Given the description of an element on the screen output the (x, y) to click on. 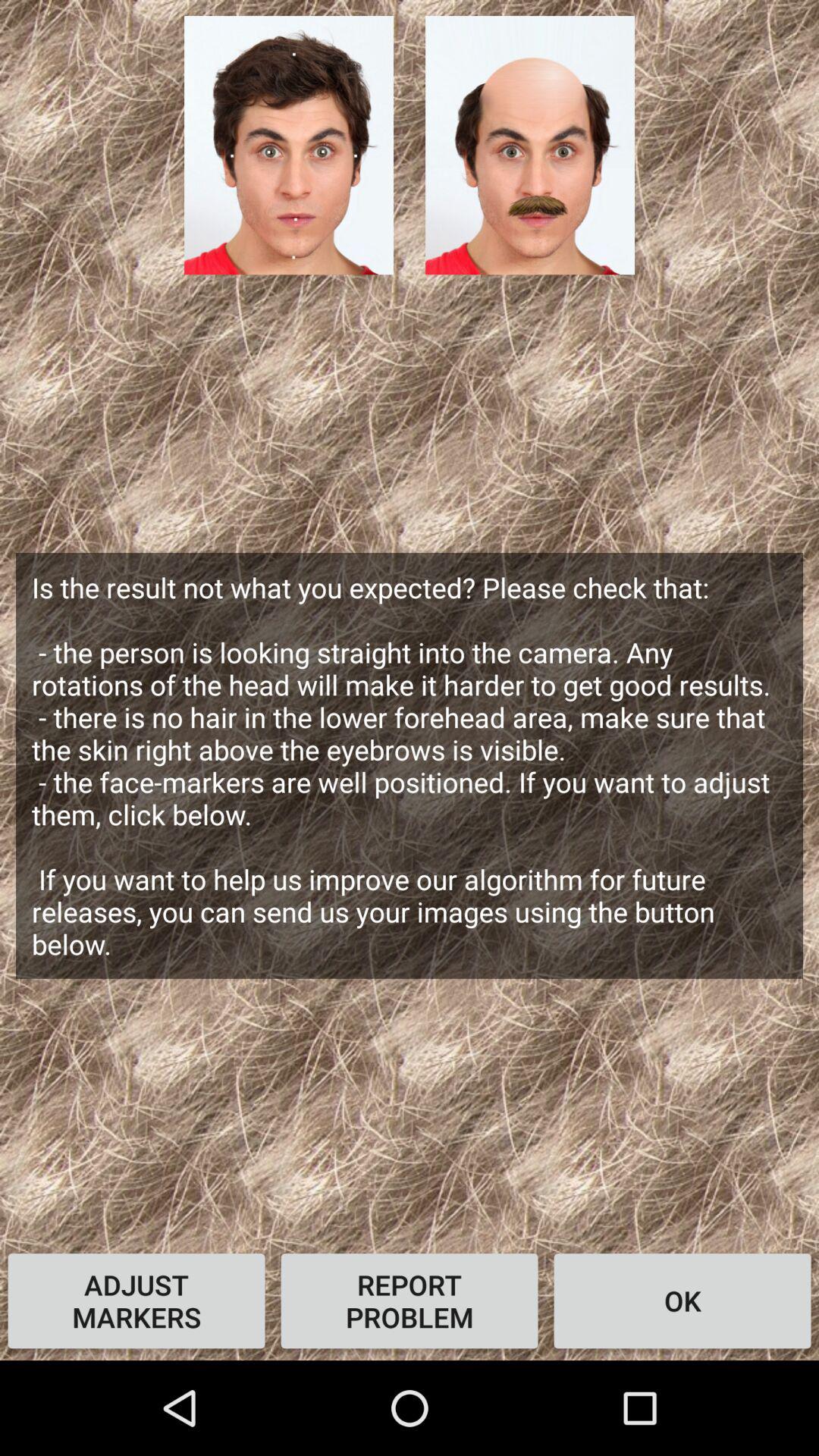
turn on the icon below the is the result item (682, 1300)
